Given the description of an element on the screen output the (x, y) to click on. 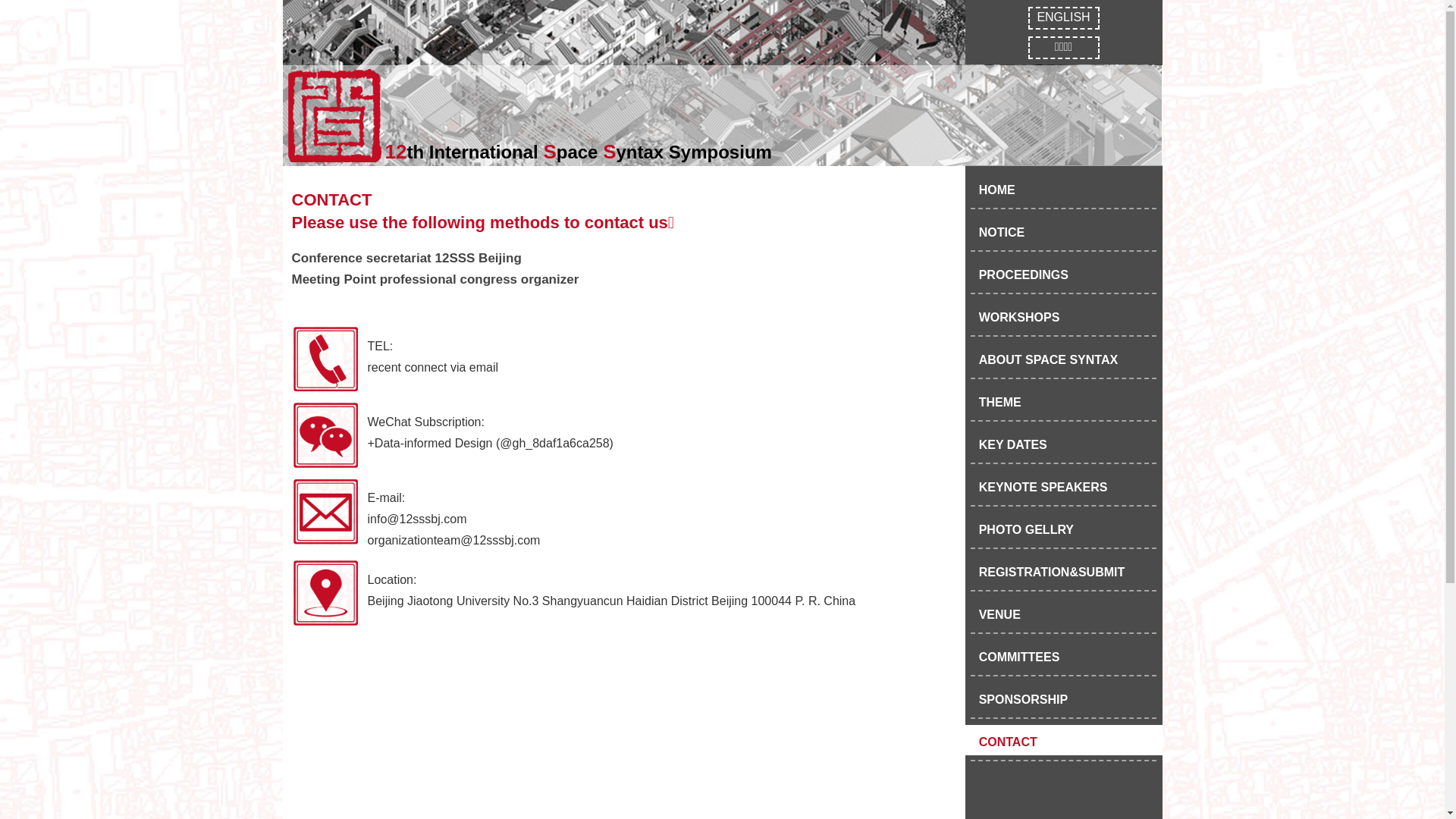
NOTICE Element type: text (1062, 230)
ENGLISH Element type: text (1063, 17)
KEYNOTE SPEAKERS Element type: text (1062, 485)
CONTACT Element type: text (1062, 739)
ABOUT SPACE SYNTAX Element type: text (1062, 357)
WORKSHOPS Element type: text (1062, 315)
SPONSORSHIP Element type: text (1062, 697)
REGISTRATION&SUBMIT Element type: text (1062, 570)
VENUE Element type: text (1062, 612)
THEME Element type: text (1062, 400)
KEY DATES Element type: text (1062, 442)
PHOTO GELLRY Element type: text (1062, 527)
PROCEEDINGS Element type: text (1062, 272)
HOME Element type: text (1062, 187)
COMMITTEES Element type: text (1062, 655)
